Given the description of an element on the screen output the (x, y) to click on. 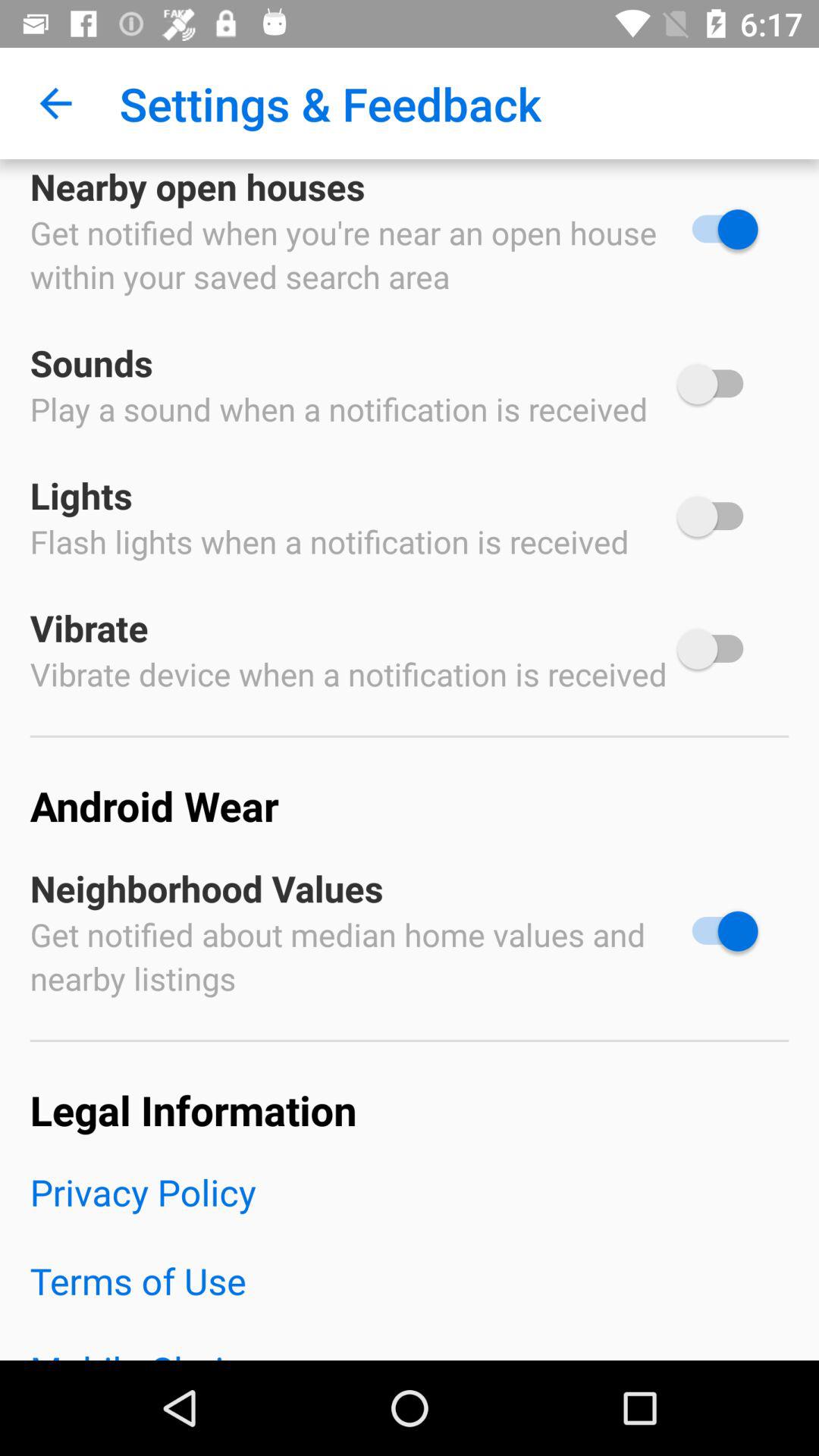
launch item above the mobile choices item (409, 1300)
